Given the description of an element on the screen output the (x, y) to click on. 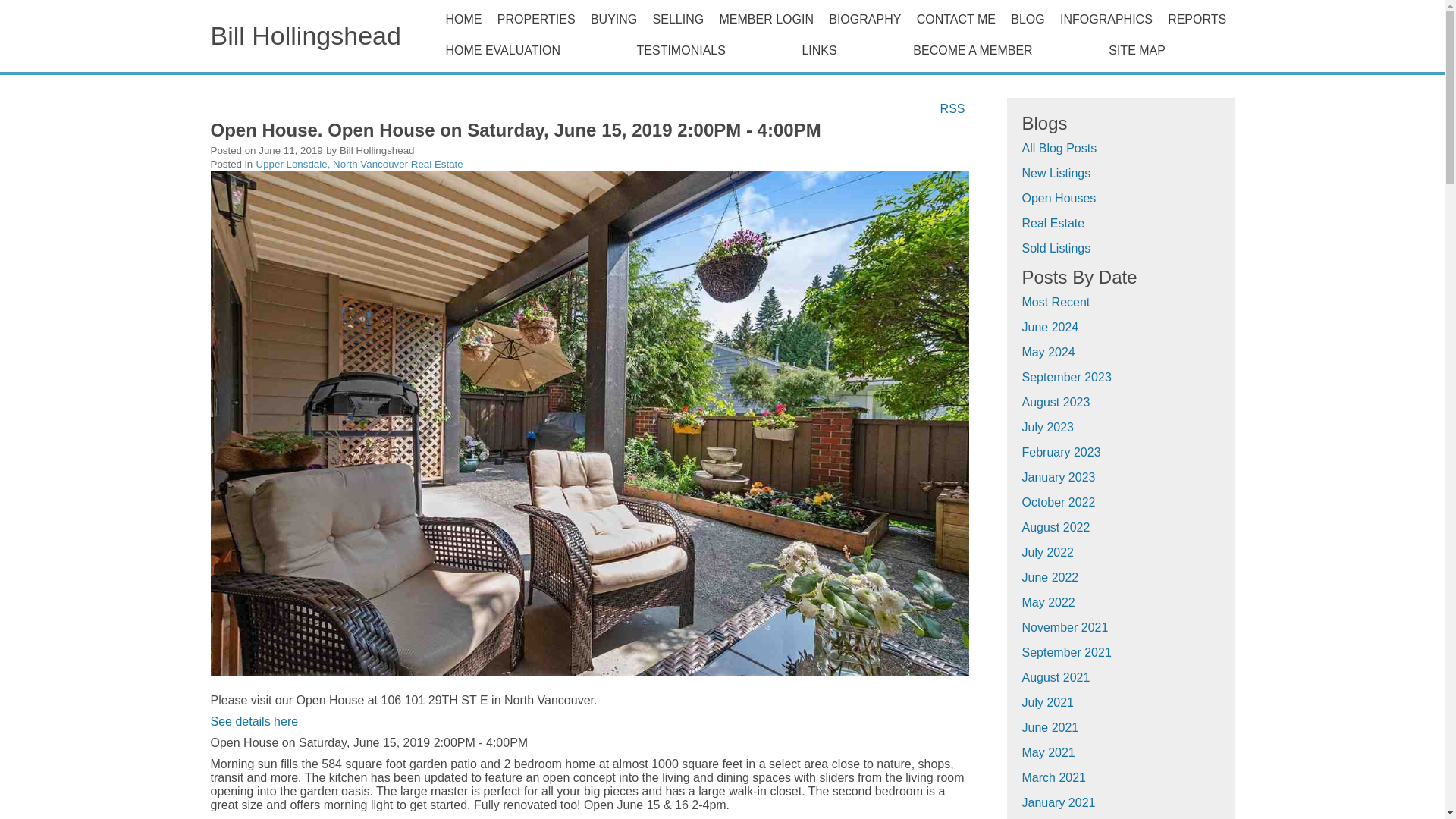
BECOME A MEMBER (1002, 50)
SITE MAP (1166, 50)
August 2023 (1056, 401)
August 2022 (1056, 526)
TESTIMONIALS (711, 50)
BUYING (614, 18)
July 2023 (1048, 427)
LINKS (849, 50)
Upper Lonsdale, North Vancouver Real Estate (359, 163)
June 2024 (1050, 327)
October 2022 (1059, 502)
Most Recent (1056, 301)
Real Estate (1053, 223)
February 2023 (1061, 451)
REPORTS (1196, 18)
